Given the description of an element on the screen output the (x, y) to click on. 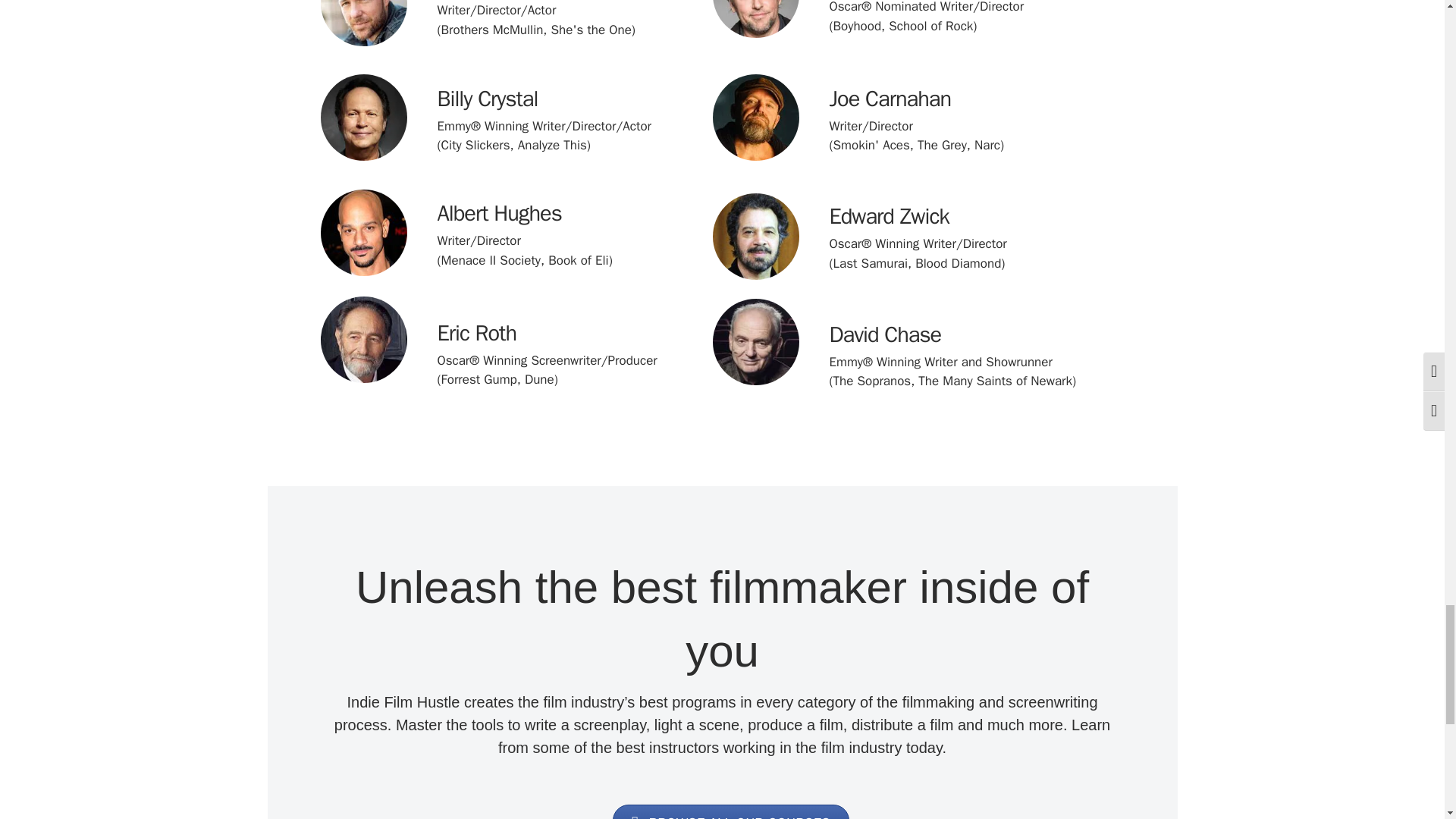
Joe Carnahan (890, 99)
Albert Hughes (498, 213)
Billy Crystal (486, 99)
